Given the description of an element on the screen output the (x, y) to click on. 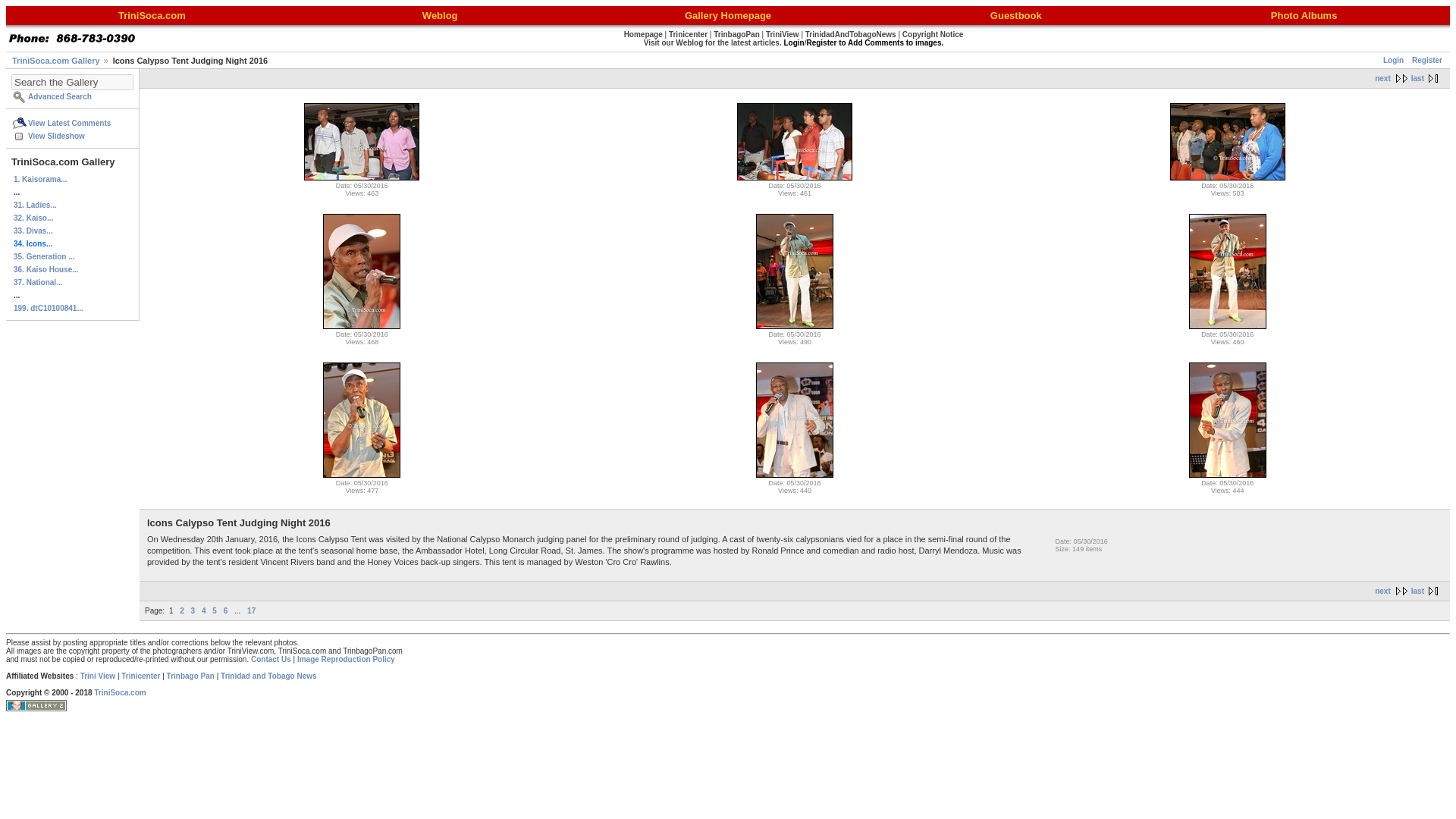
TriniSoca.com (151, 16)
last (1427, 78)
Login (1393, 60)
Trinicenter (687, 34)
next (1392, 78)
Gallery Homepage (727, 16)
Search the Gallery (72, 82)
View Slideshow (72, 135)
35. Generation ... (72, 256)
199. dtC10100841... (72, 308)
Visit our Weblog for the latest articles. (712, 41)
Advanced Search (72, 96)
Weblog (440, 16)
1. Kaisorama... (72, 178)
View Latest Comments (72, 123)
